Given the description of an element on the screen output the (x, y) to click on. 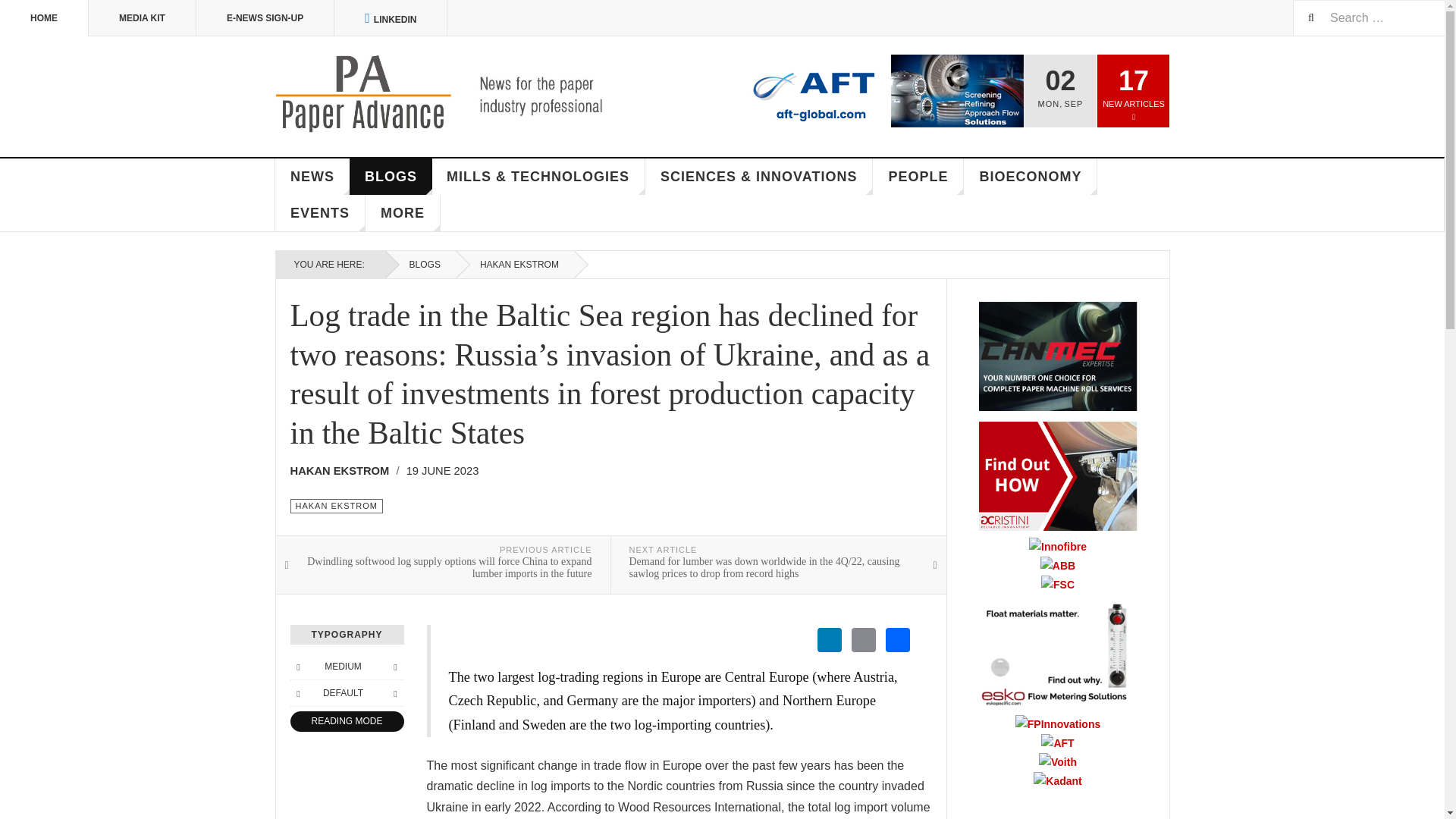
NEWS (312, 176)
Paper Advance (461, 93)
MEDIA KIT (142, 18)
E-NEWS SIGN-UP (265, 18)
HOME (44, 18)
LINKEDIN (390, 18)
